Given the description of an element on the screen output the (x, y) to click on. 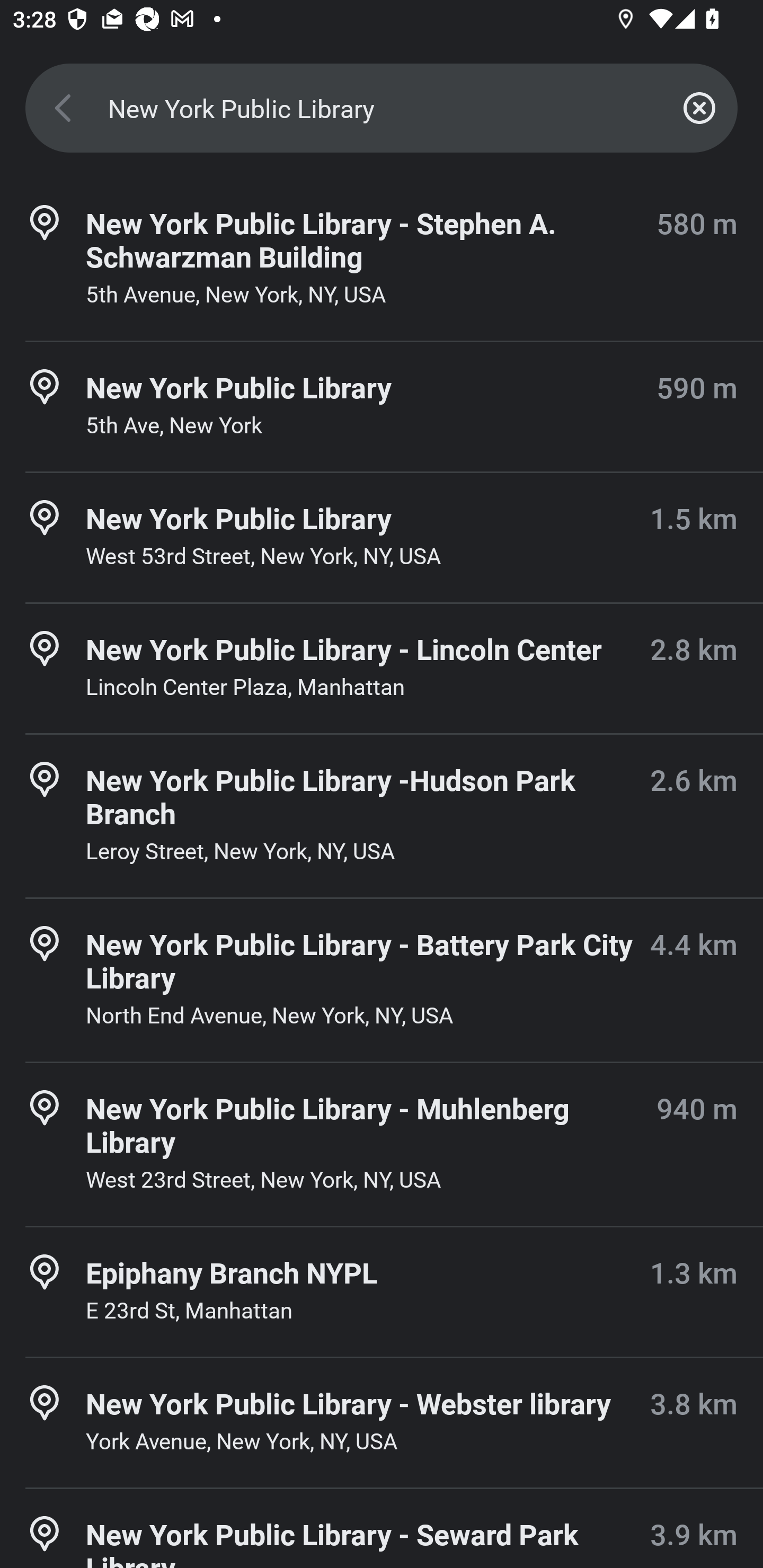
New York Public Library SEARCH_SCREEN_SEARCH_FIELD (381, 108)
New York Public Library 590 m 5th Ave, New York (381, 406)
Epiphany Branch NYPL 1.3 km E 23rd St, Manhattan (381, 1291)
